Given the description of an element on the screen output the (x, y) to click on. 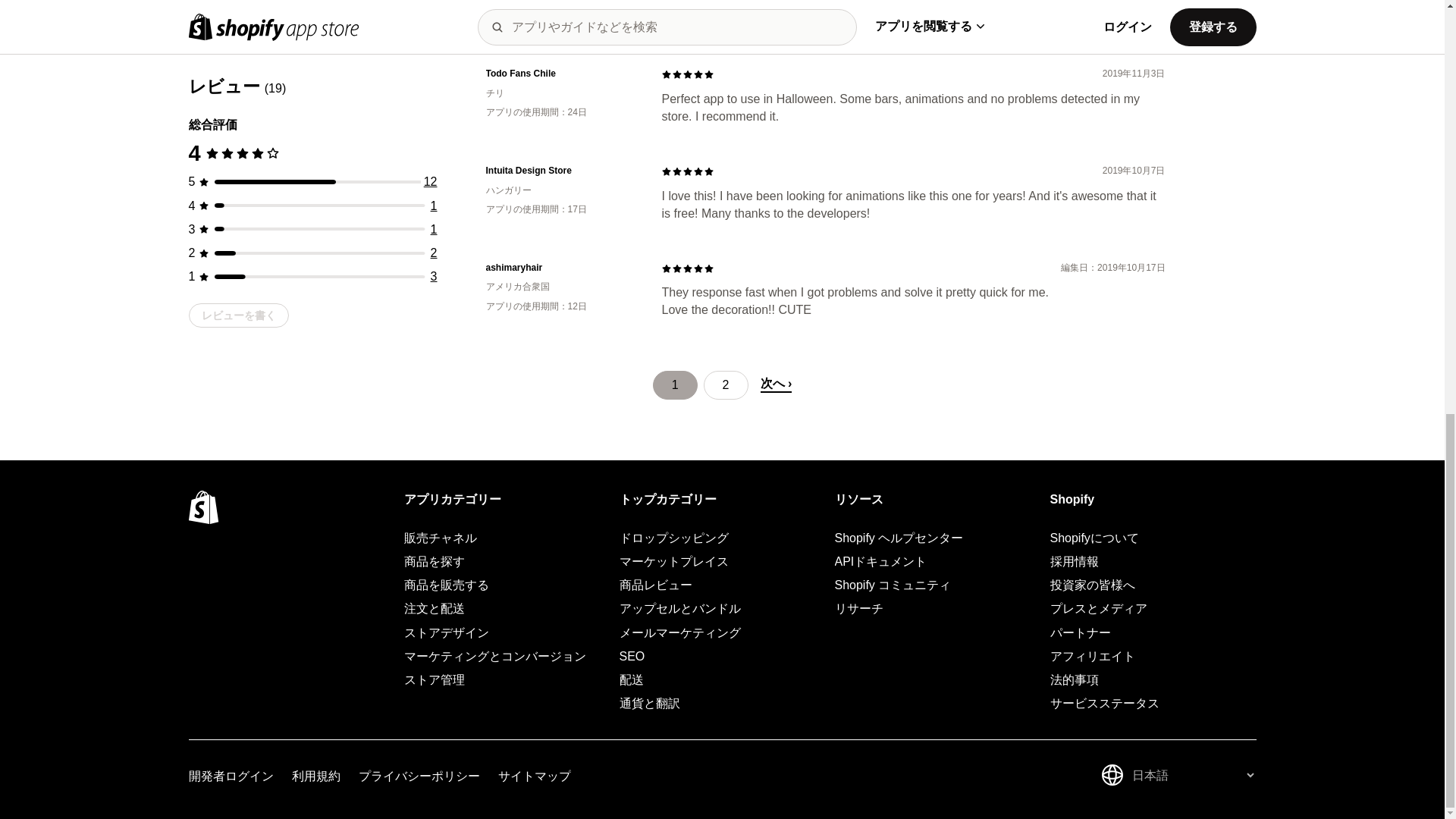
ashimaryhair (560, 267)
Intuita Design Store (560, 170)
Todo Fans Chile (560, 73)
